Given the description of an element on the screen output the (x, y) to click on. 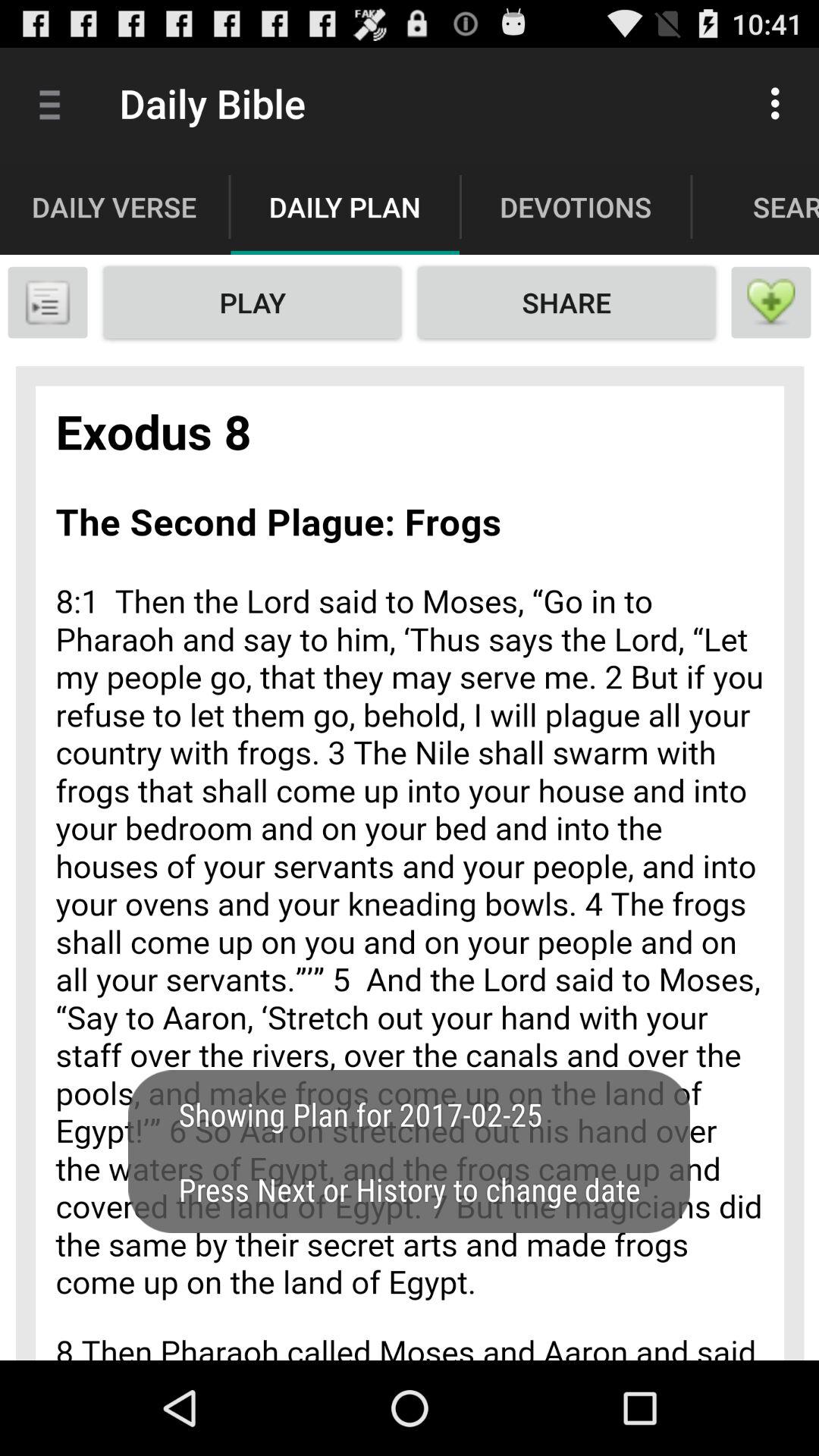
like option (771, 302)
